Given the description of an element on the screen output the (x, y) to click on. 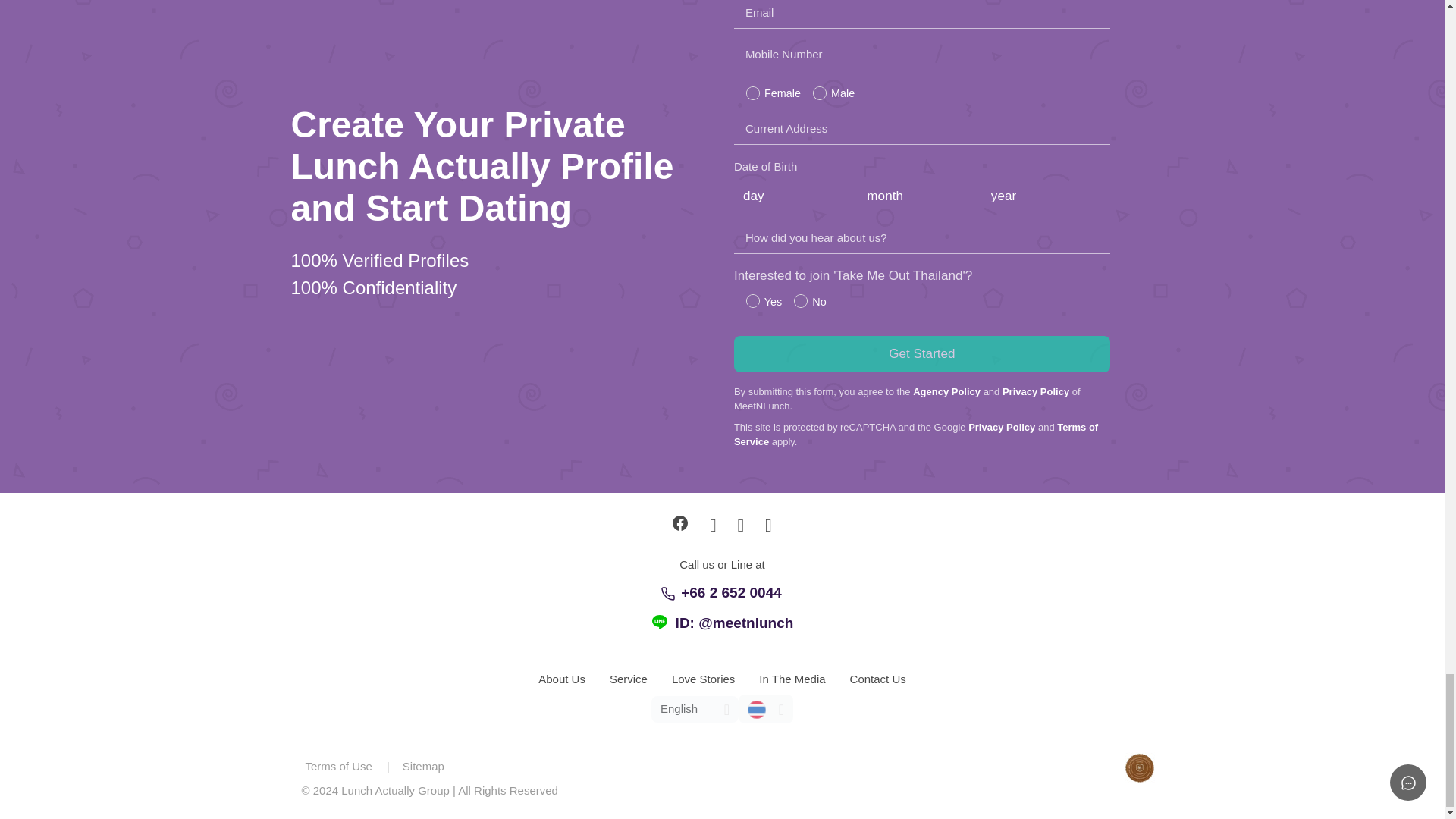
2 (752, 92)
2 (800, 300)
1 (752, 300)
Get Started (921, 353)
1 (819, 92)
